Given the description of an element on the screen output the (x, y) to click on. 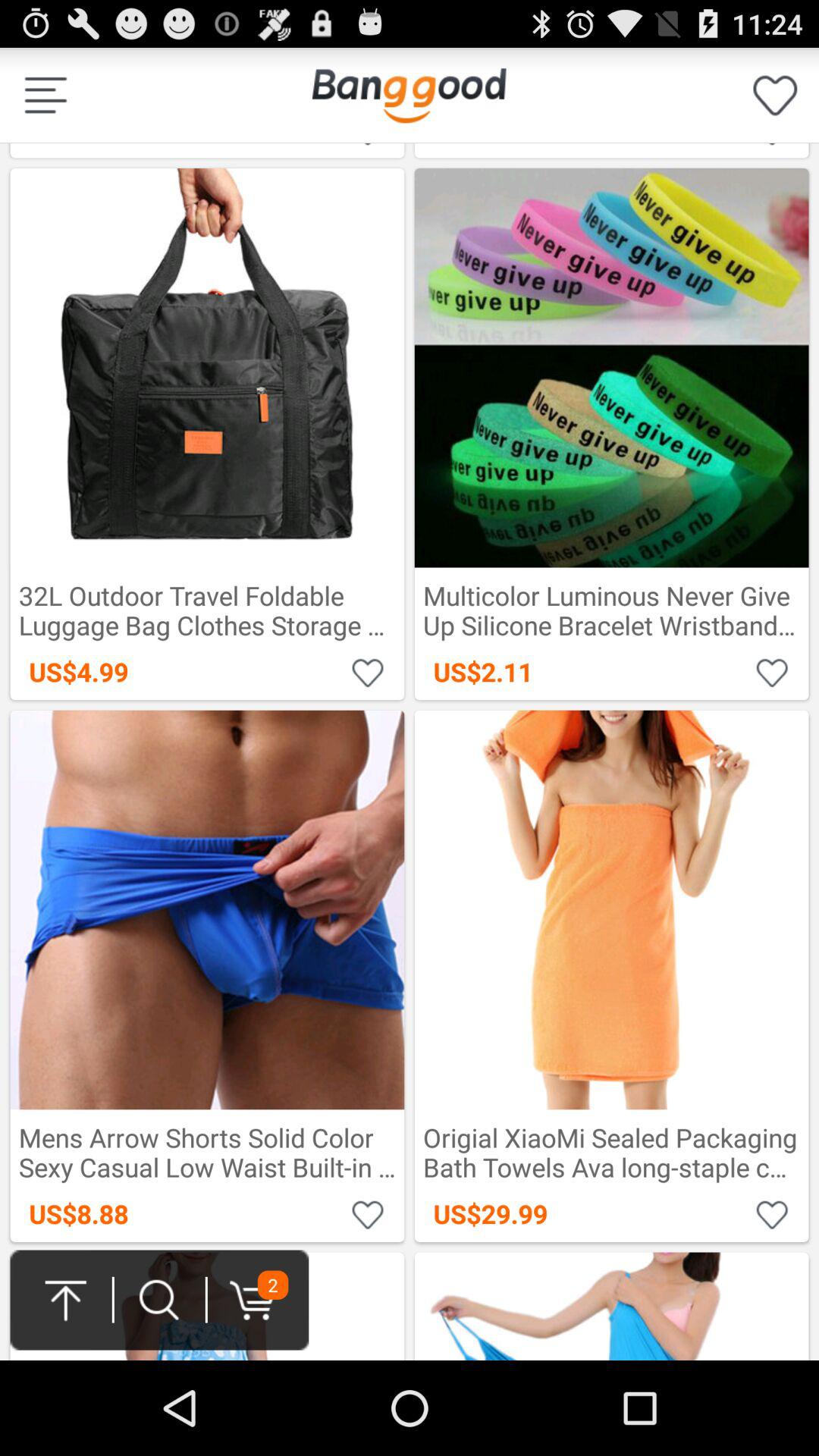
mark as favorite (368, 671)
